Given the description of an element on the screen output the (x, y) to click on. 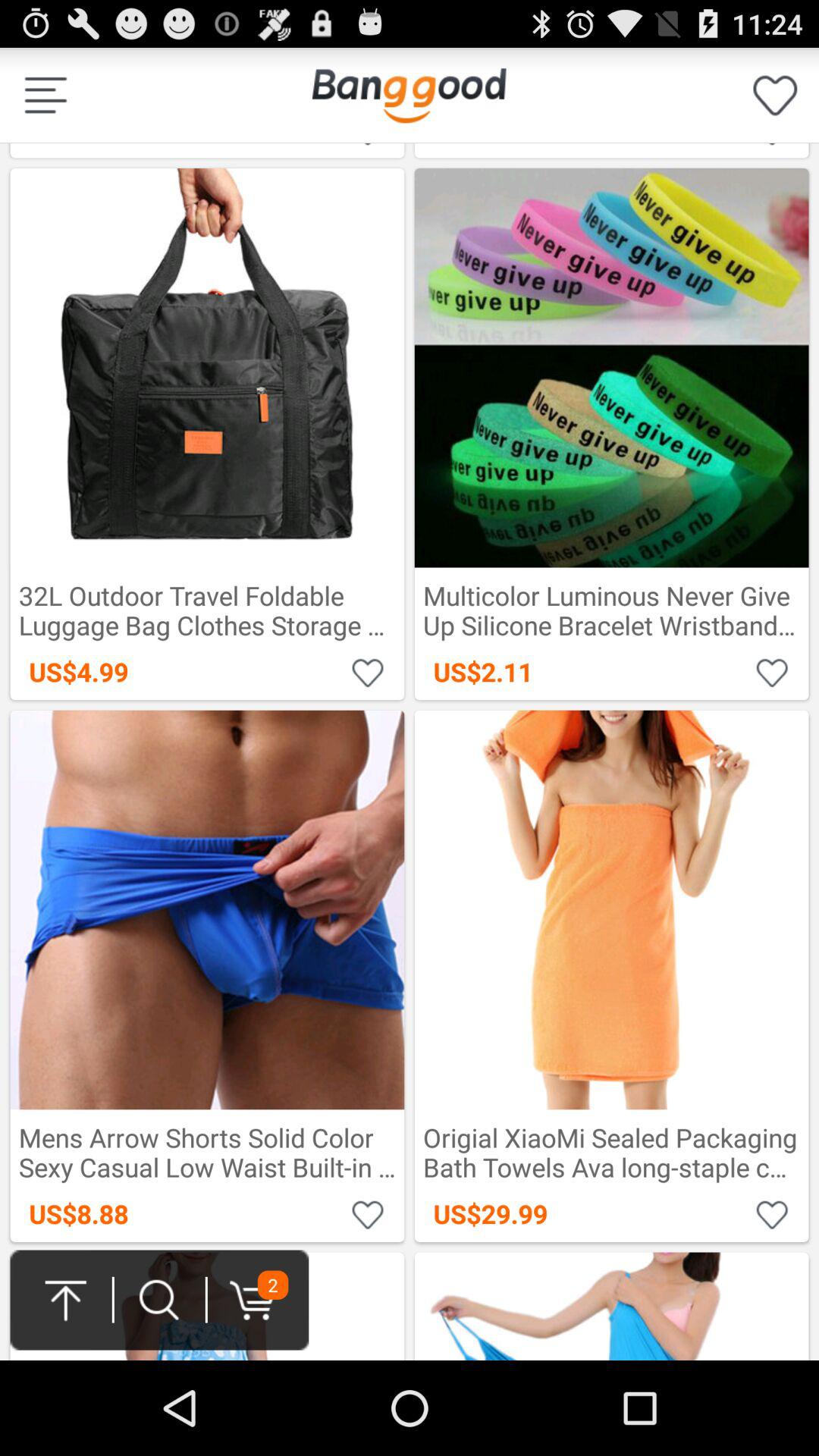
mark as favorite (368, 671)
